Given the description of an element on the screen output the (x, y) to click on. 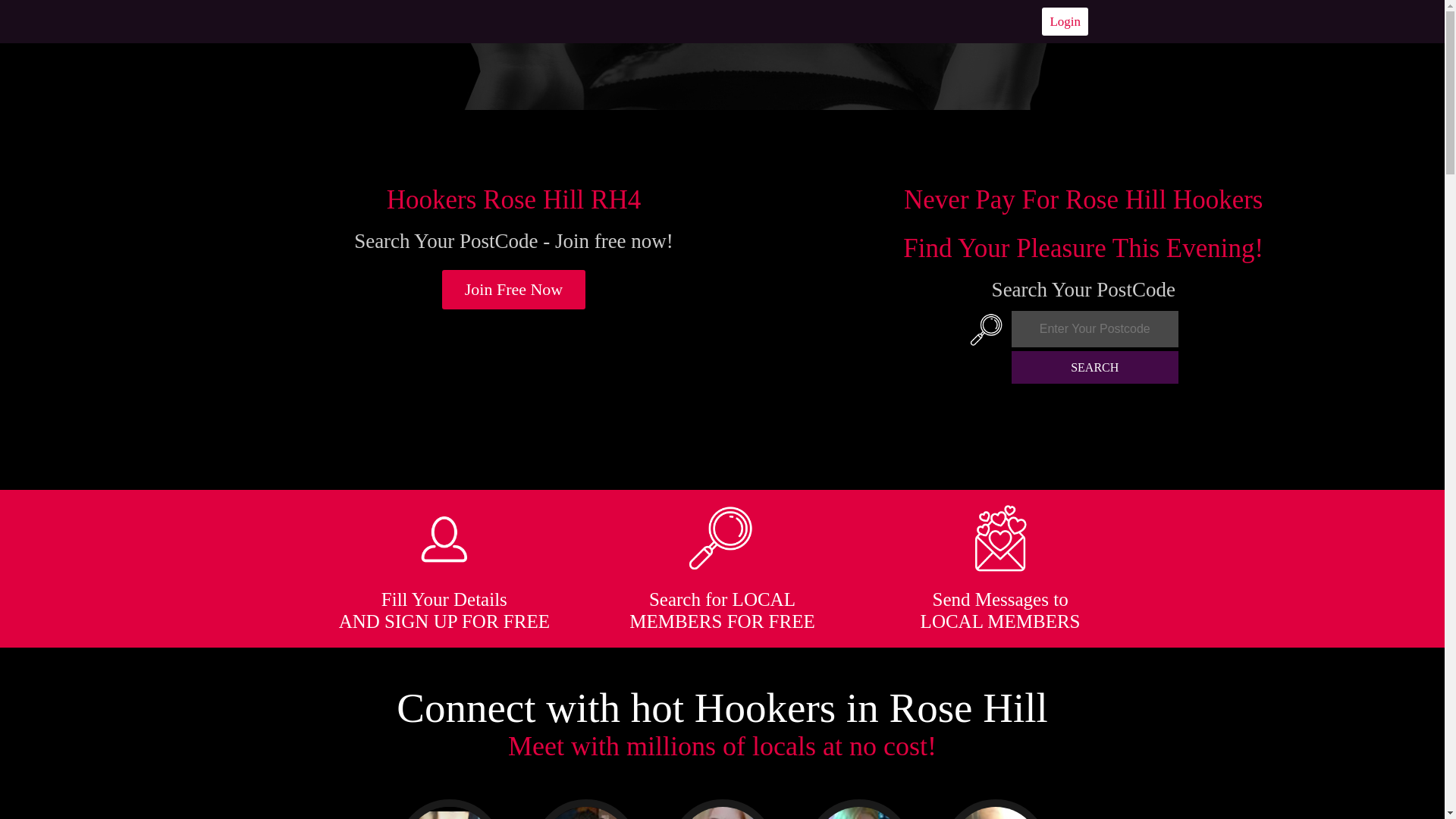
Join (514, 289)
Join Free Now (514, 289)
Login (1064, 21)
SEARCH (1094, 367)
Login (1064, 21)
